Given the description of an element on the screen output the (x, y) to click on. 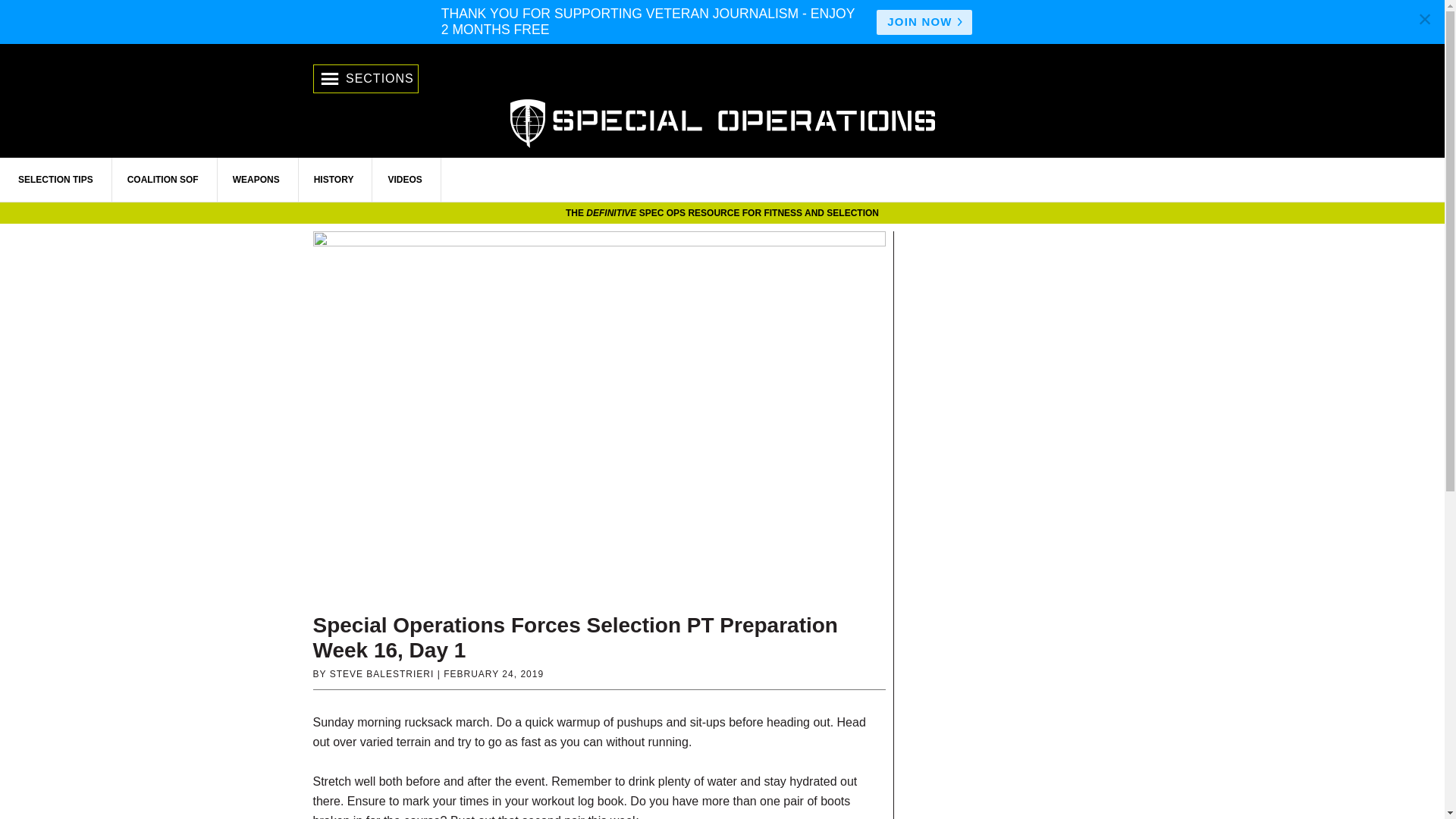
SPECIALOPERATIONS.COM (722, 121)
VIDEOS (405, 179)
WEAPONS (256, 179)
SELECTION TIPS (56, 179)
HISTORY (333, 179)
COALITION SOF (162, 179)
SECTIONS (365, 78)
STEVE BALESTRIERI (381, 674)
